Given the description of an element on the screen output the (x, y) to click on. 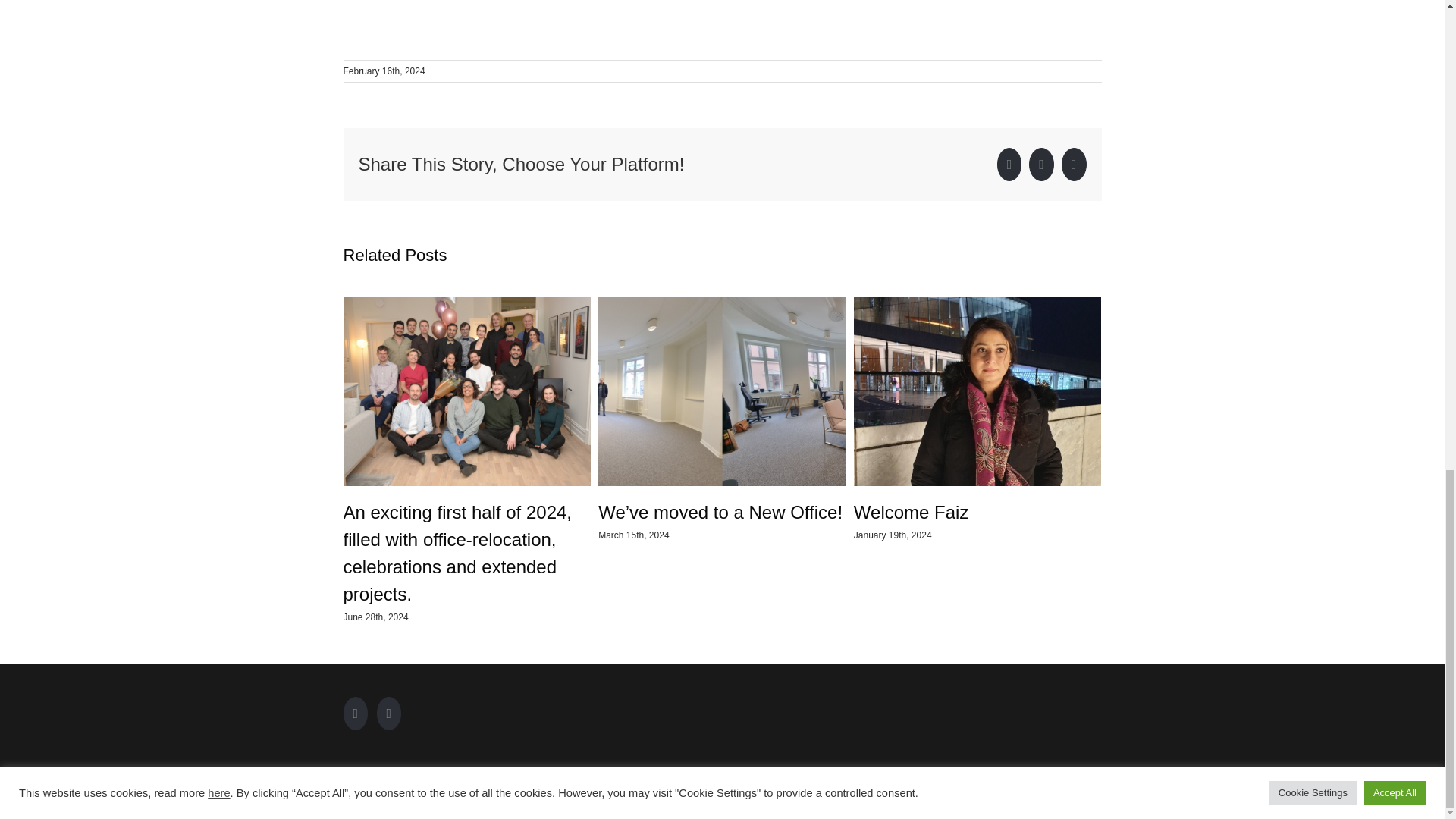
Welcome Faiz (911, 512)
Welcome Faiz (911, 512)
